Given the description of an element on the screen output the (x, y) to click on. 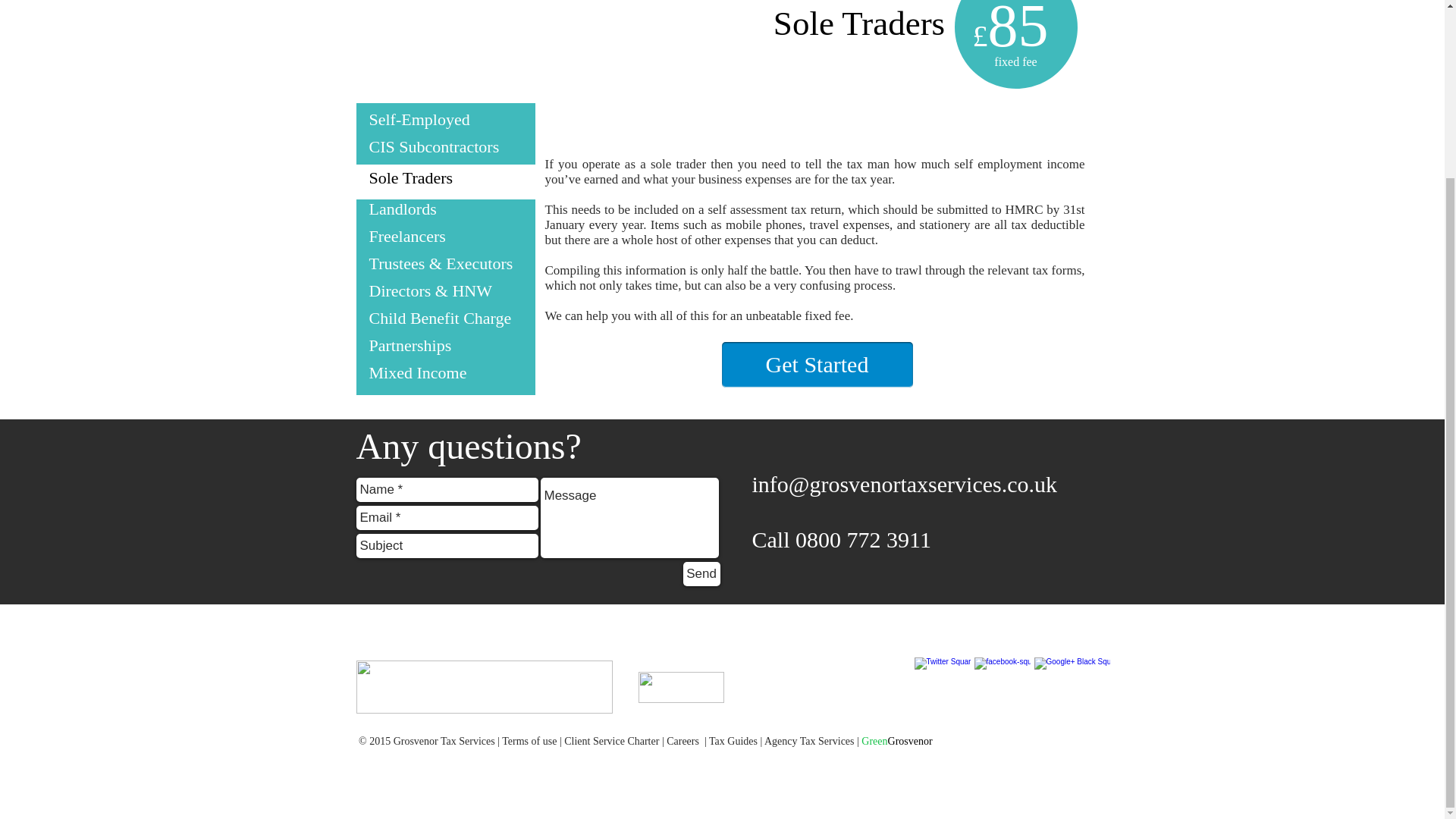
Self-Employed (418, 118)
CIS Subcontractors (433, 146)
Landlords (401, 208)
paymen-icons-v3.jpg (484, 686)
Freelancers (406, 235)
